Given the description of an element on the screen output the (x, y) to click on. 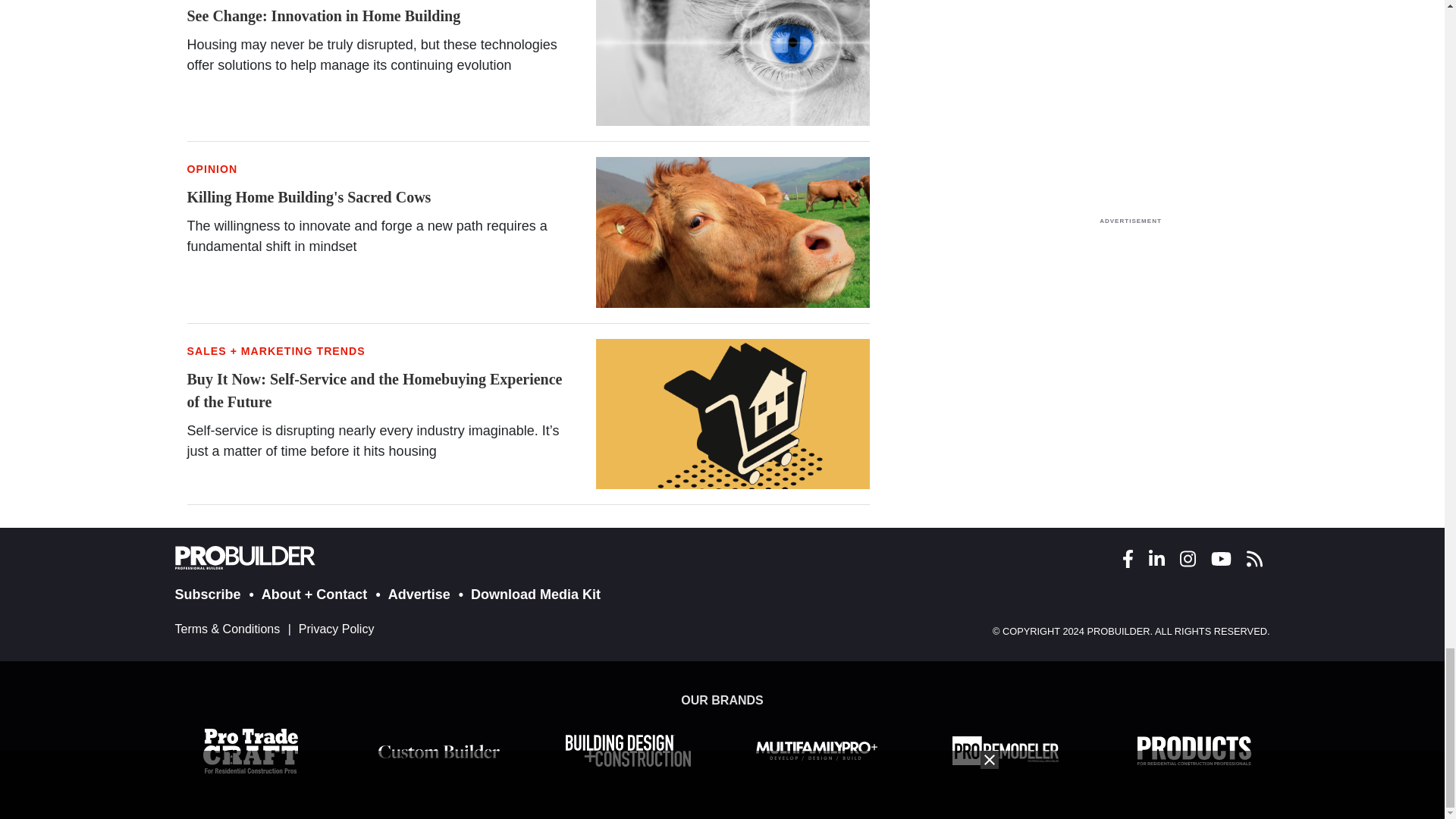
true (1130, 97)
true (1130, 328)
YouTube (1220, 559)
